Given the description of an element on the screen output the (x, y) to click on. 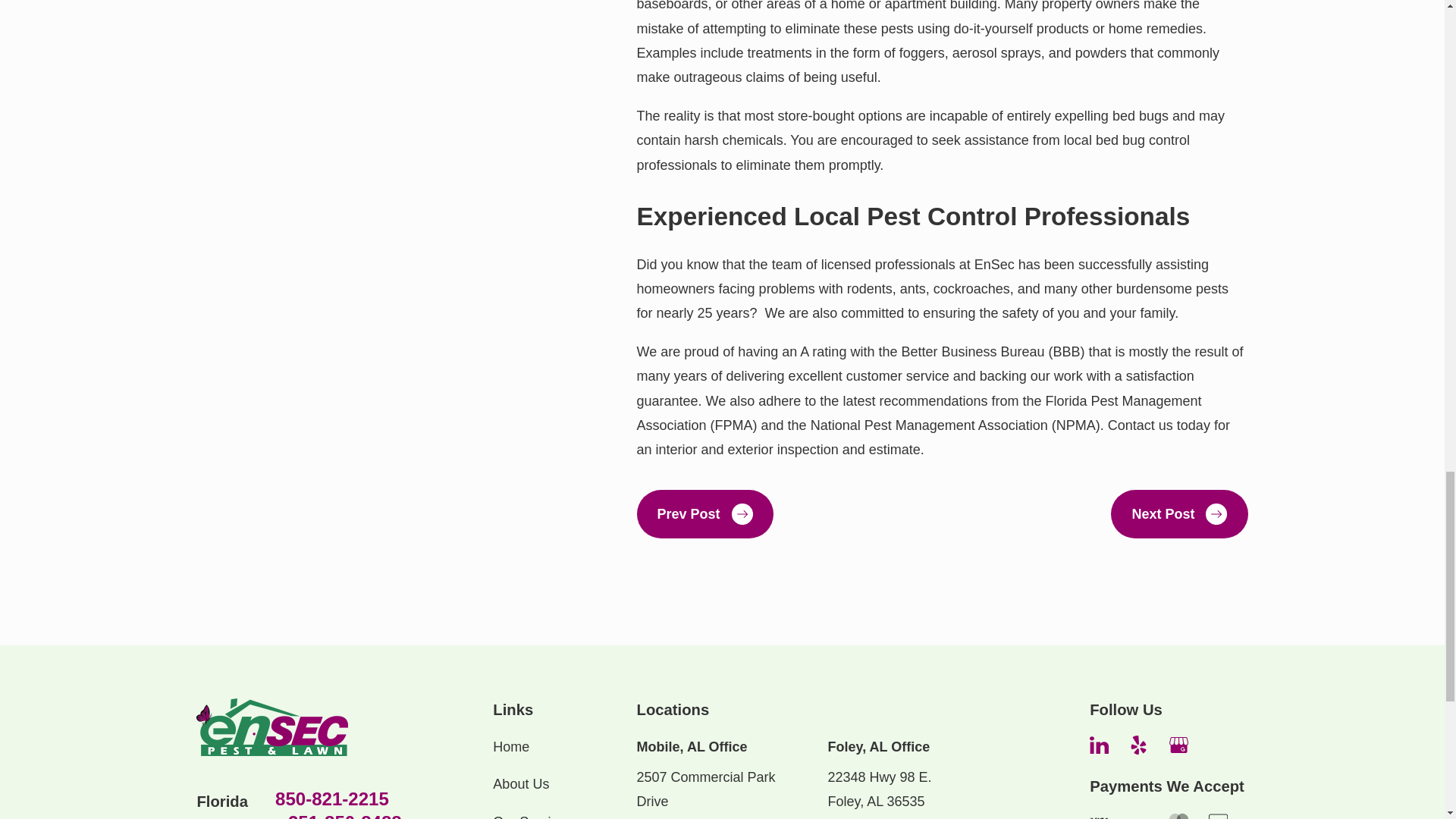
Visa (1098, 815)
AMEX (1138, 815)
Google Business Profile (1178, 744)
LinkedIn (1098, 744)
MasterCard (1178, 815)
Yelp (1138, 744)
Home (271, 726)
